Given the description of an element on the screen output the (x, y) to click on. 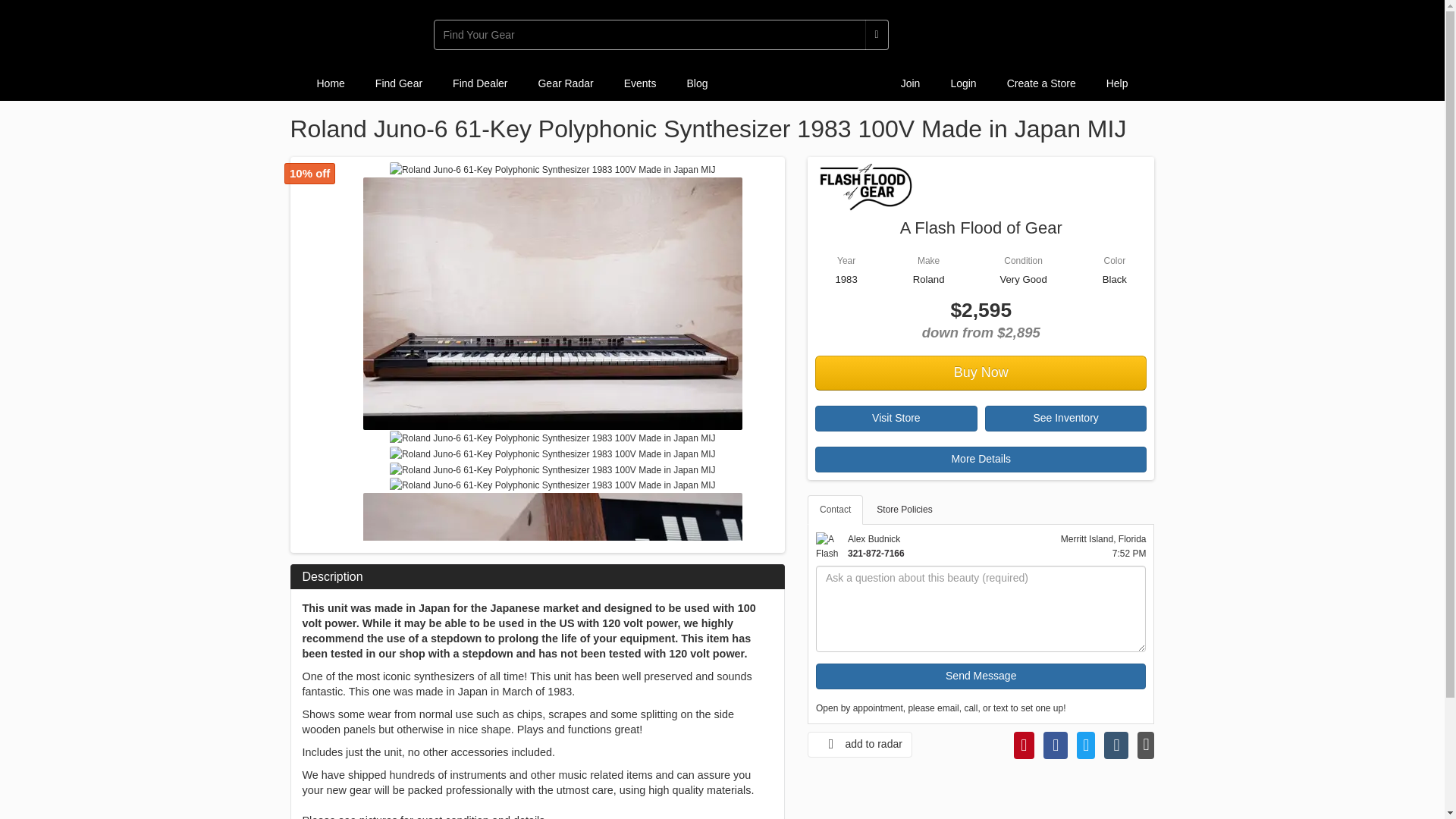
Contact (835, 509)
Buy Now (981, 372)
Blog (696, 83)
Visit Store (895, 418)
Help (1116, 83)
Gear Radar (565, 83)
321-872-7166 (875, 552)
Create a Store (1040, 83)
See Inventory (1066, 418)
Send Message (981, 676)
